Given the description of an element on the screen output the (x, y) to click on. 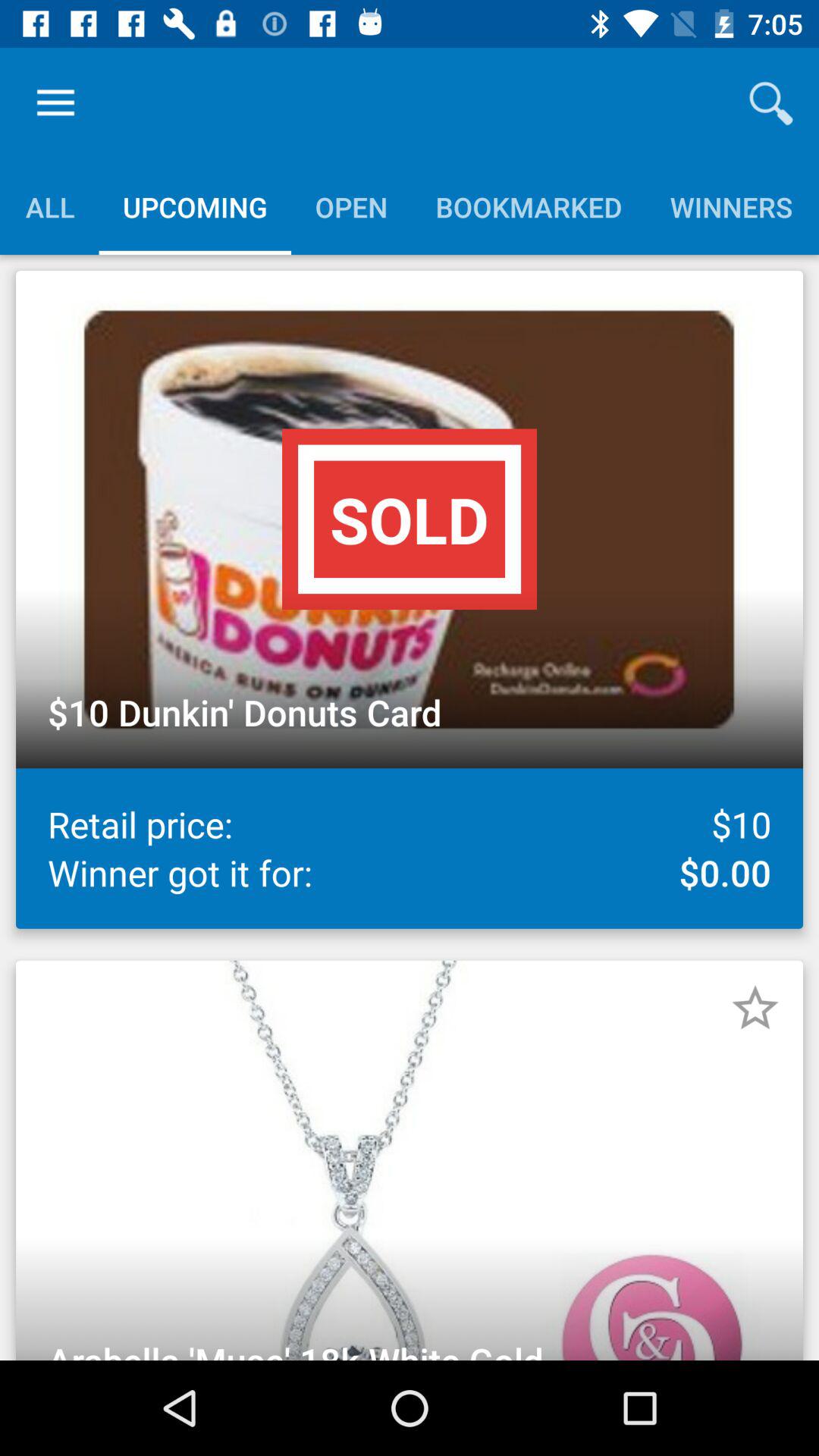
click icon at the bottom right corner (755, 1008)
